Given the description of an element on the screen output the (x, y) to click on. 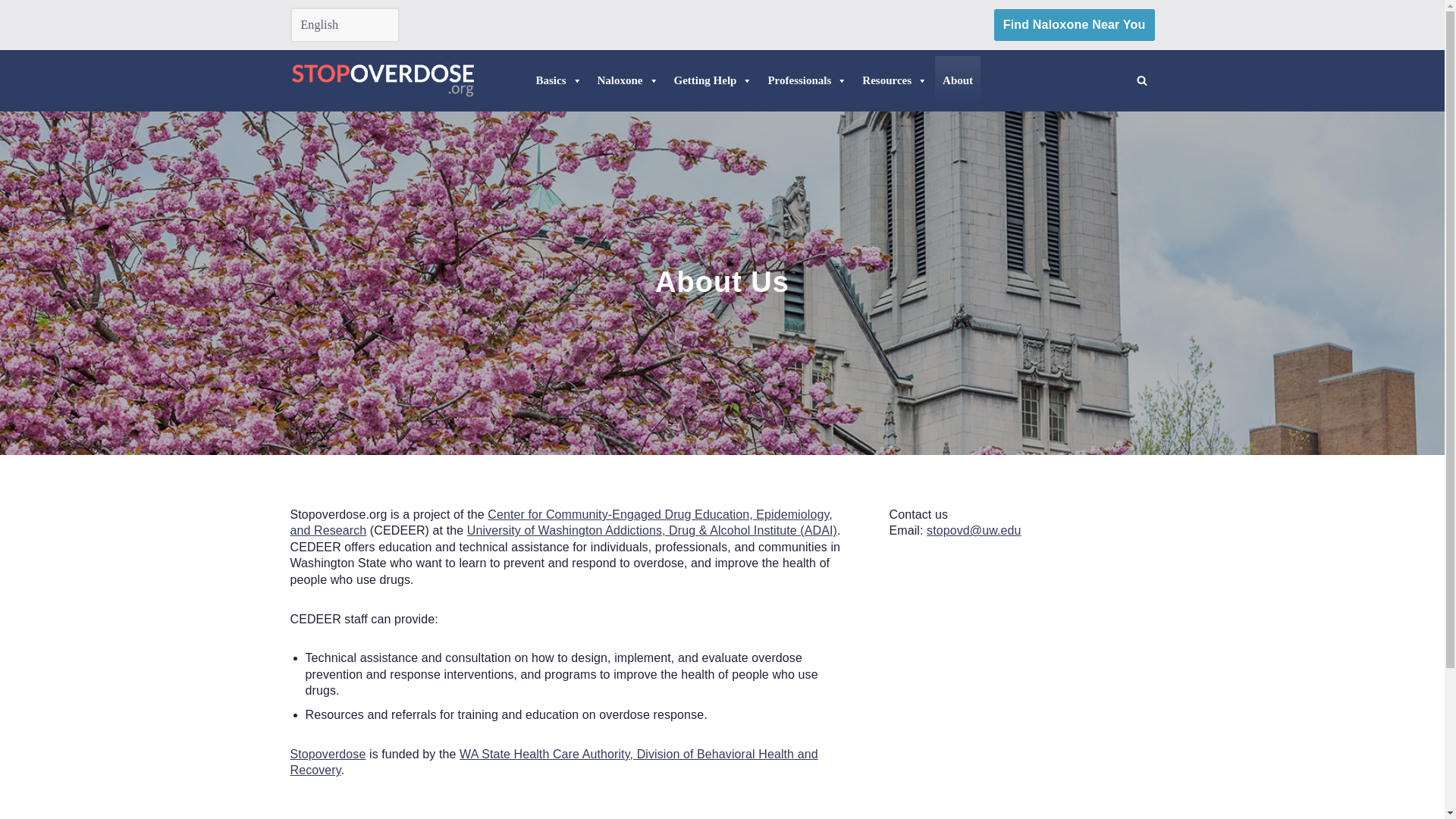
Find Naloxone Near You (1074, 24)
Resources (894, 80)
Skip to content (11, 31)
Getting Help (713, 80)
Stopoverdose.org (381, 80)
About (956, 80)
Naloxone (627, 80)
Professionals (807, 80)
Basics (558, 80)
